Given the description of an element on the screen output the (x, y) to click on. 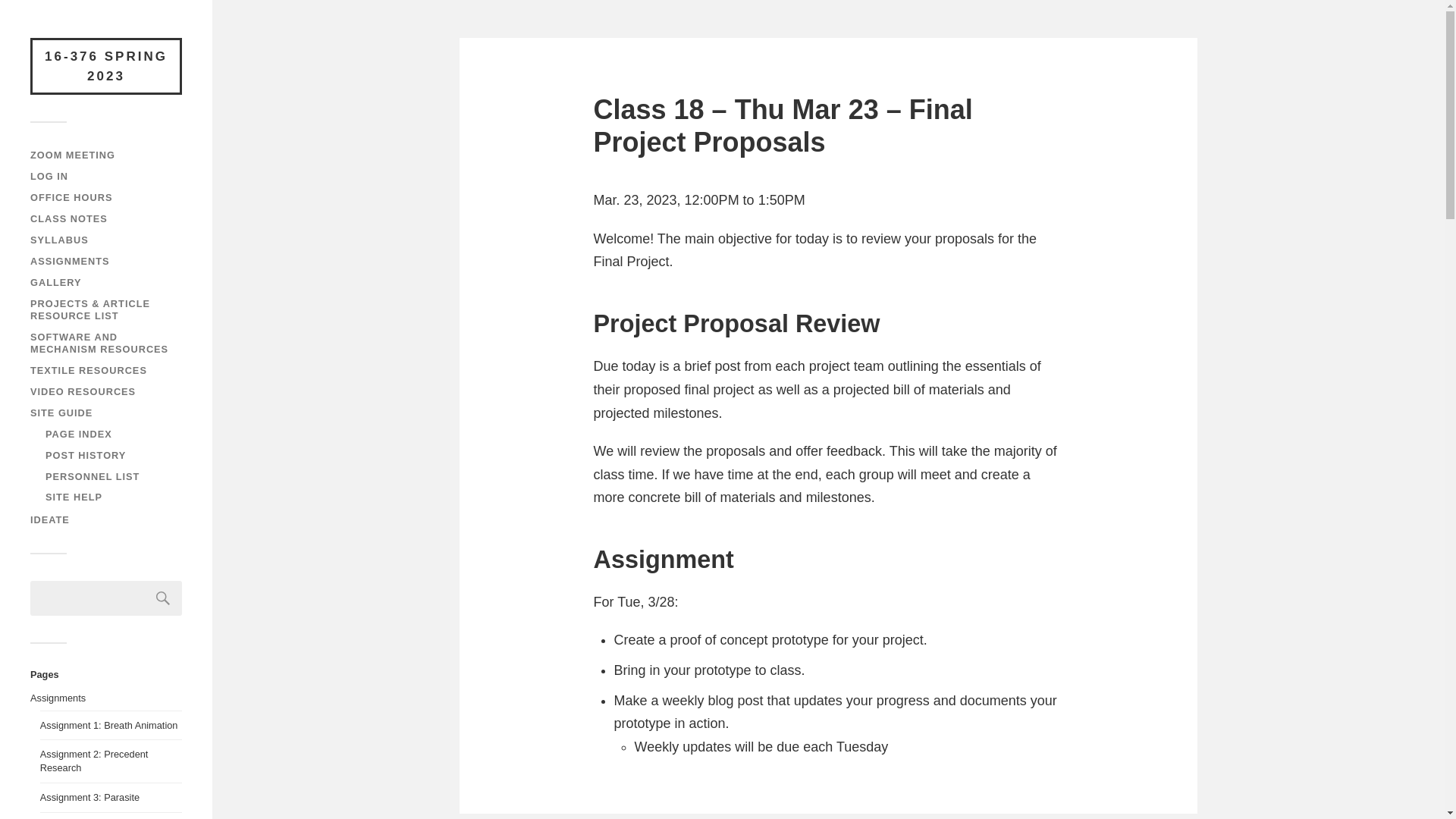
16-376 SPRING 2023 (106, 66)
SITE GUIDE (61, 412)
OFFICE HOURS (71, 197)
GALLERY (55, 282)
POST HISTORY (85, 455)
PERSONNEL LIST (92, 475)
SOFTWARE AND MECHANISM RESOURCES (99, 342)
VIDEO RESOURCES (82, 391)
SYLLABUS (59, 239)
ZOOM MEETING (72, 154)
Search (163, 597)
LOG IN (49, 175)
Assignments (57, 697)
TEXTILE RESOURCES (88, 369)
CLASS NOTES (68, 218)
